Given the description of an element on the screen output the (x, y) to click on. 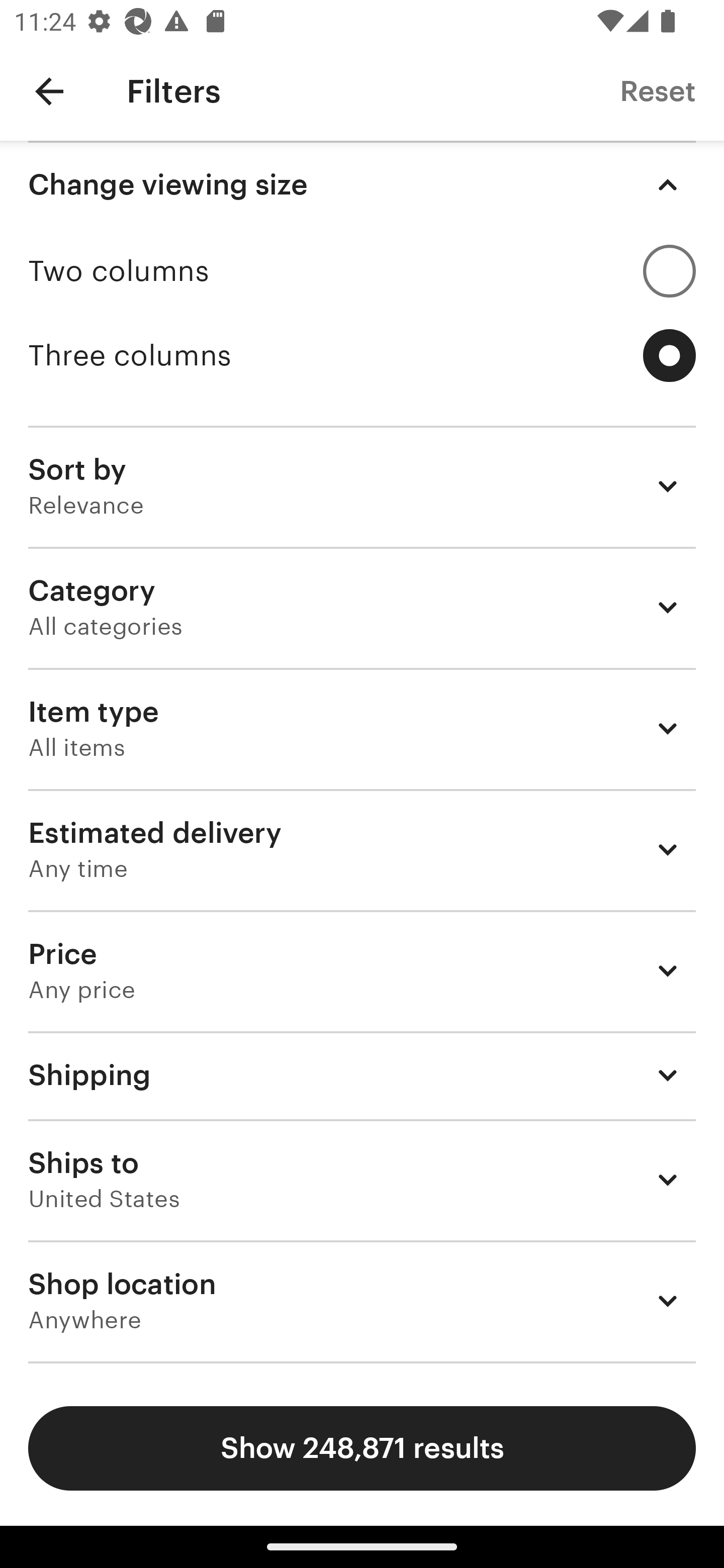
Navigate up (49, 91)
Reset (657, 90)
Change viewing size (362, 184)
Two columns (362, 270)
Three columns (362, 355)
Sort by Relevance (362, 485)
Category All categories (362, 607)
Item type All items (362, 727)
Estimated delivery Any time (362, 848)
Price Any price (362, 970)
Shipping (362, 1075)
Ships to United States (362, 1179)
Shop location Anywhere (362, 1300)
Show 248,871 results (361, 1448)
